Given the description of an element on the screen output the (x, y) to click on. 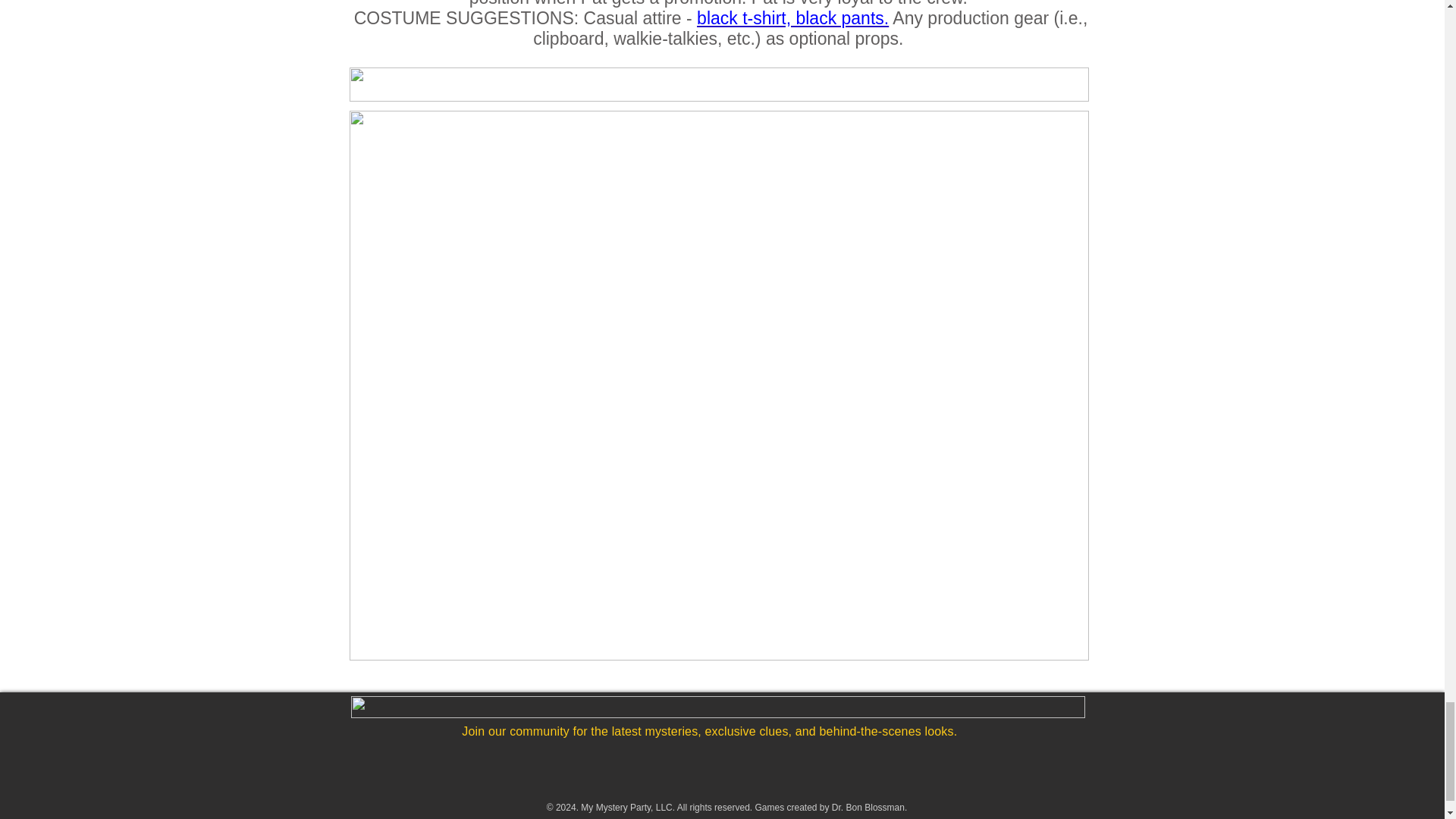
caution.png (718, 84)
